Given the description of an element on the screen output the (x, y) to click on. 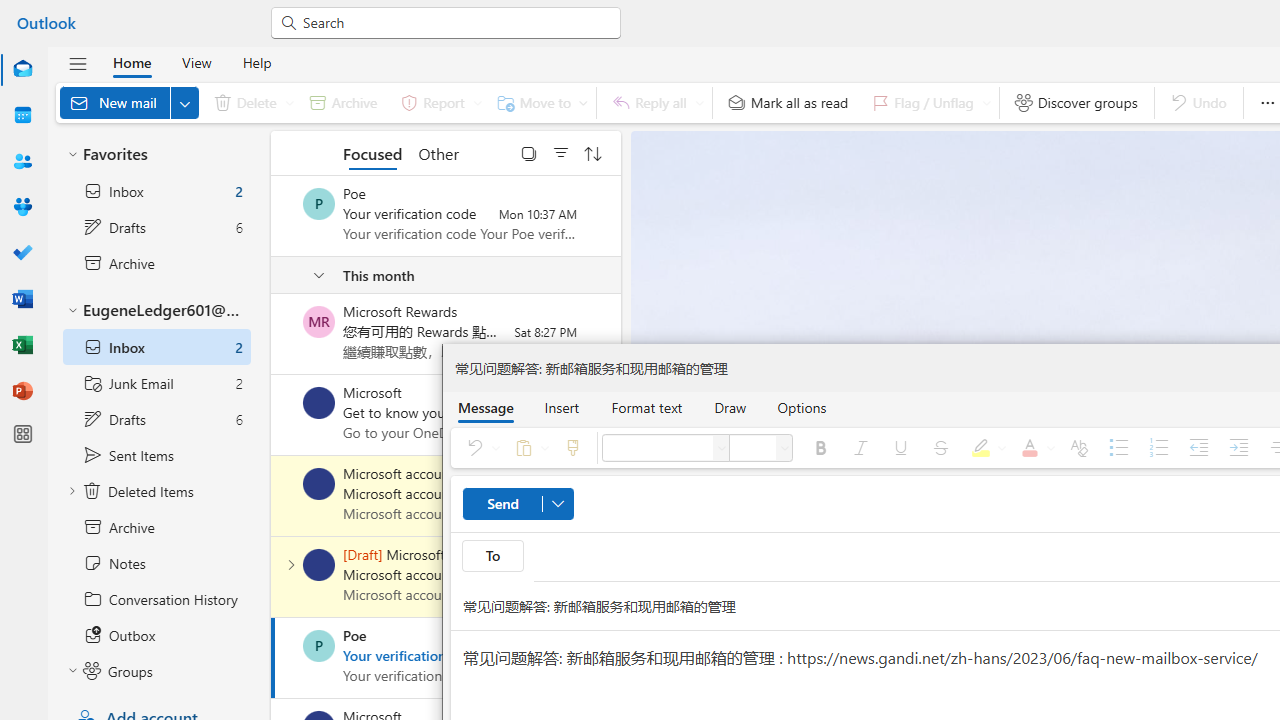
Expand to see flag options (985, 102)
Poe (319, 645)
Word (22, 298)
Underline (900, 447)
Italic (860, 447)
Reply all (654, 102)
Mark all as read (788, 102)
Flag / Unflag (927, 102)
Bullets (1119, 447)
Calendar (22, 115)
Font size (784, 448)
Mark as unread (273, 577)
Report (437, 102)
Text highlight color (985, 447)
People (22, 161)
